Given the description of an element on the screen output the (x, y) to click on. 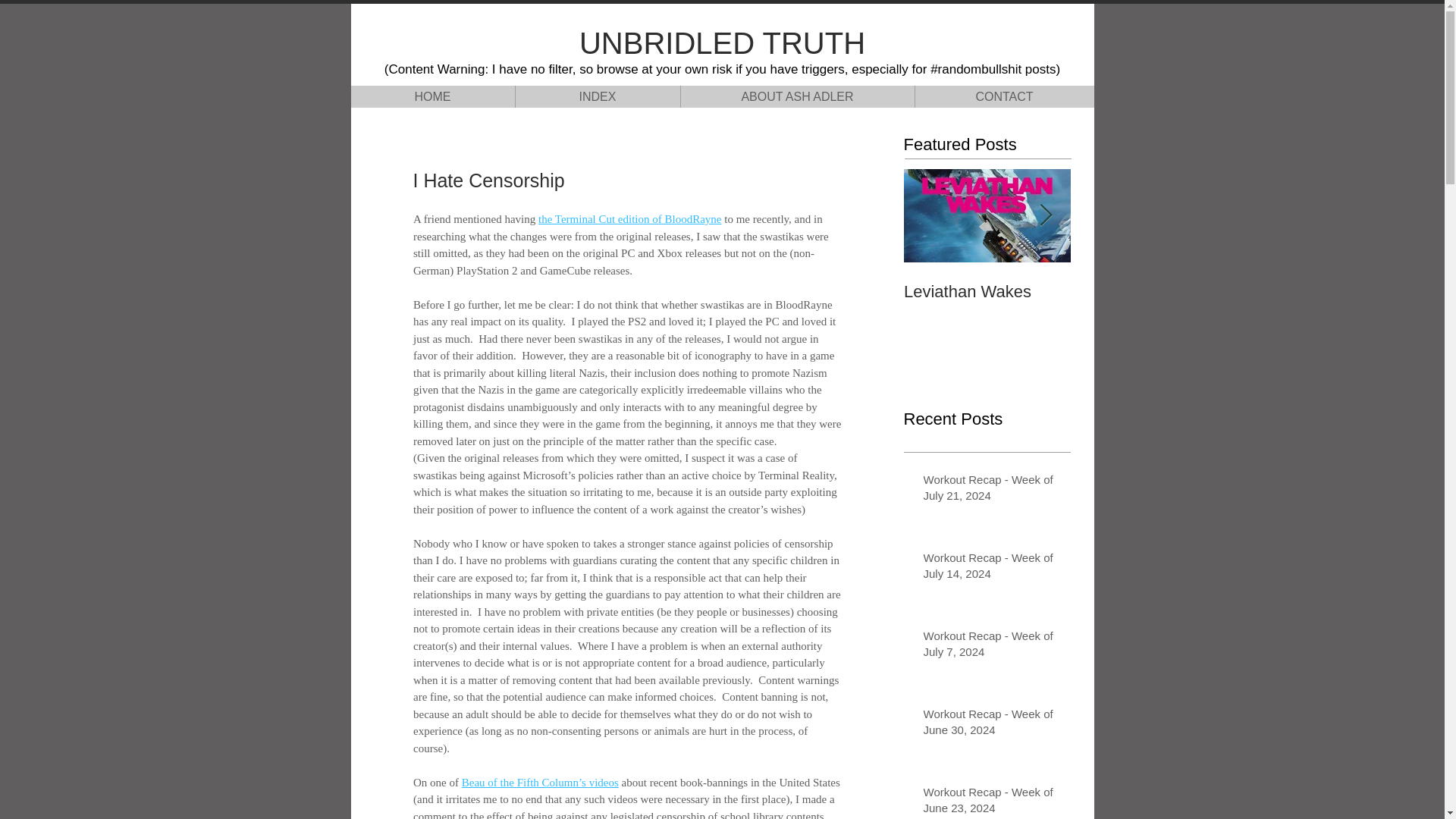
Workout Recap - Week of July 7, 2024 (992, 646)
ABOUT ASH ADLER (796, 96)
Workout Recap - Week of June 30, 2024 (992, 724)
UNBRIDLED TRUTH (721, 42)
Workout Recap - Week of July 21, 2024 (992, 490)
Workout Recap - Week of June 23, 2024 (992, 801)
Shadowrun Returns (1153, 291)
Cinders (1321, 291)
Workout Recap - Week of July 14, 2024 (992, 568)
HOME (431, 96)
CONTACT (1004, 96)
the Terminal Cut edition of BloodRayne (628, 218)
INDEX (596, 96)
Leviathan Wakes (987, 291)
